Given the description of an element on the screen output the (x, y) to click on. 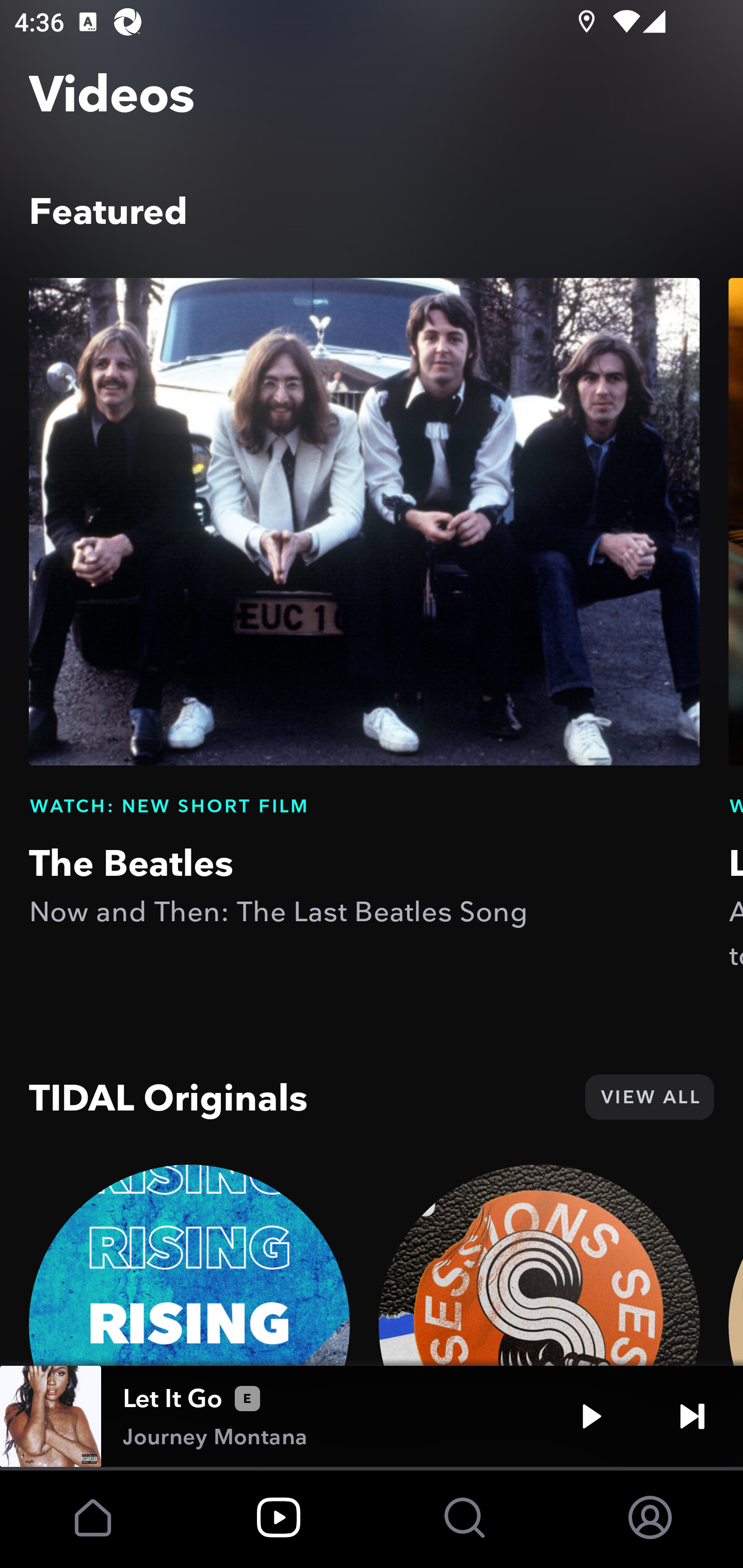
VIEW ALL (649, 1096)
Let It Go    Journey Montana Play (371, 1416)
Play (590, 1416)
